Given the description of an element on the screen output the (x, y) to click on. 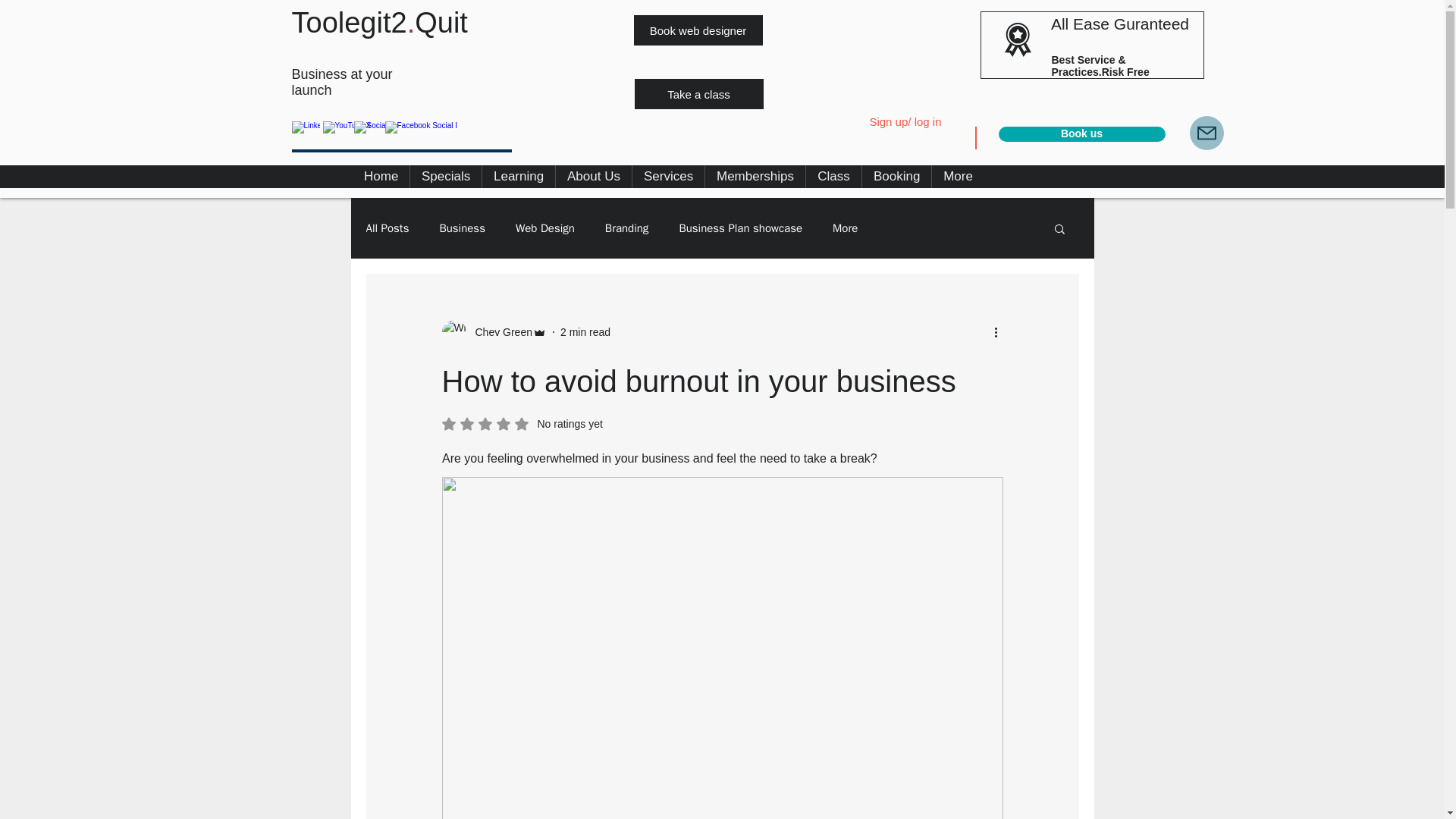
Class (833, 176)
Take a class (697, 93)
2 min read (585, 331)
Toolegit2.Quit (379, 22)
Branding (627, 228)
Book us (1080, 133)
Business (461, 228)
Chev Green (493, 331)
Learning (517, 176)
Chev Green (498, 332)
Book web designer (697, 30)
Booking (896, 176)
More (844, 228)
Web Design (545, 228)
All Posts (387, 228)
